Given the description of an element on the screen output the (x, y) to click on. 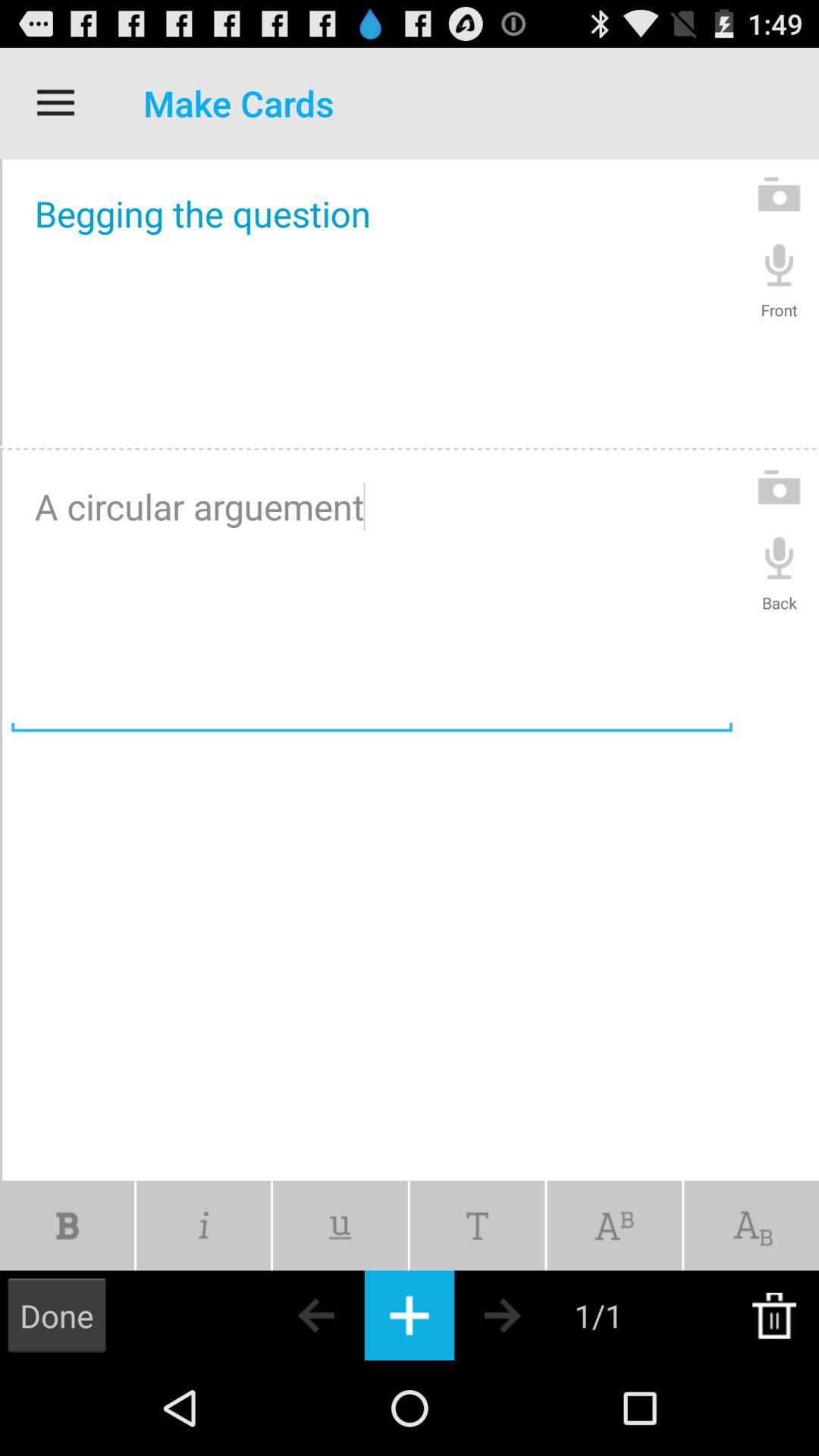
dictate (779, 557)
